Given the description of an element on the screen output the (x, y) to click on. 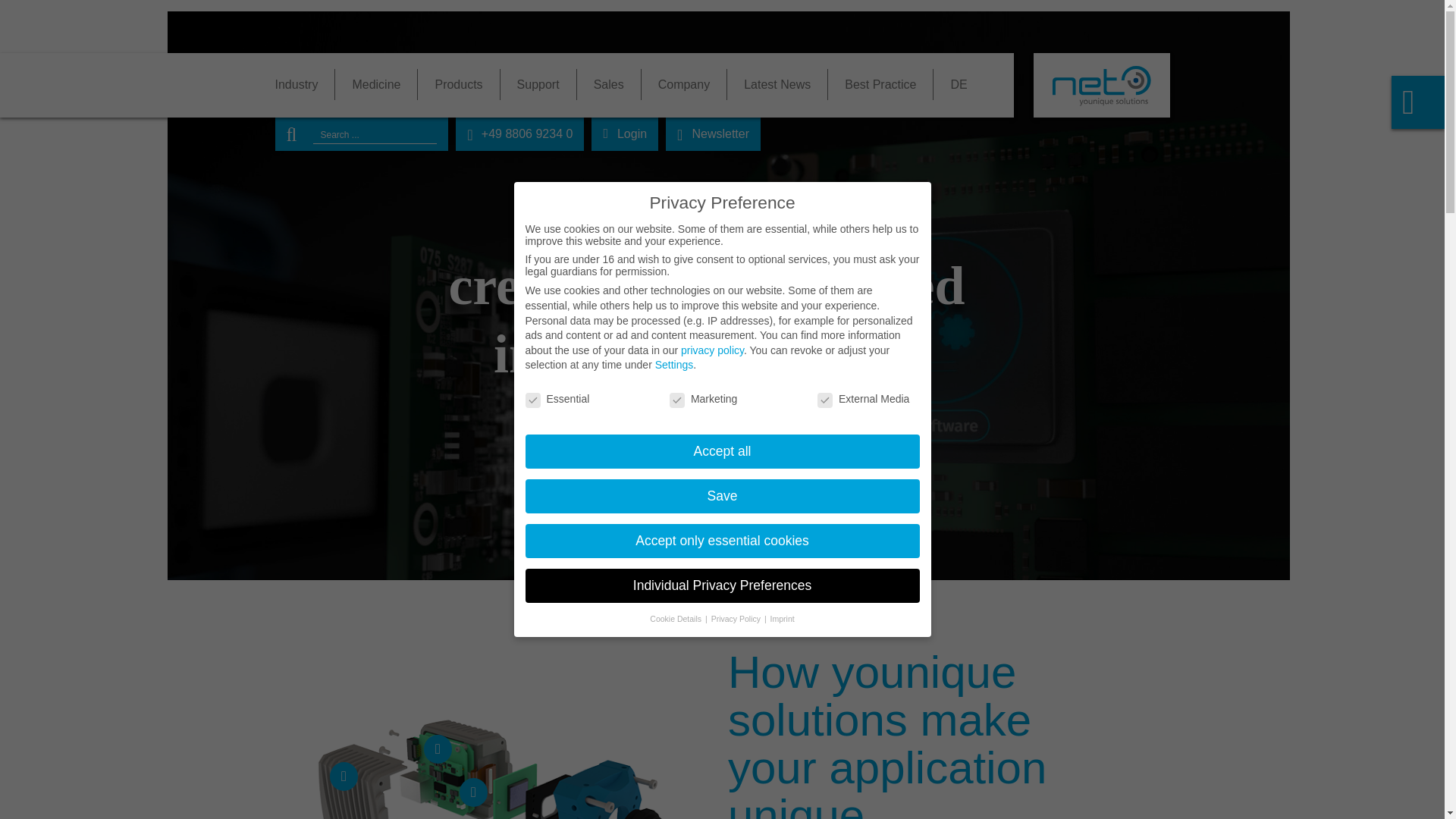
Products (458, 83)
Medicine (375, 83)
Company (684, 83)
Sales (609, 83)
Best Practice (880, 83)
Support (538, 83)
DE (949, 83)
Latest News (777, 83)
DE (949, 83)
Industry (304, 83)
